Given the description of an element on the screen output the (x, y) to click on. 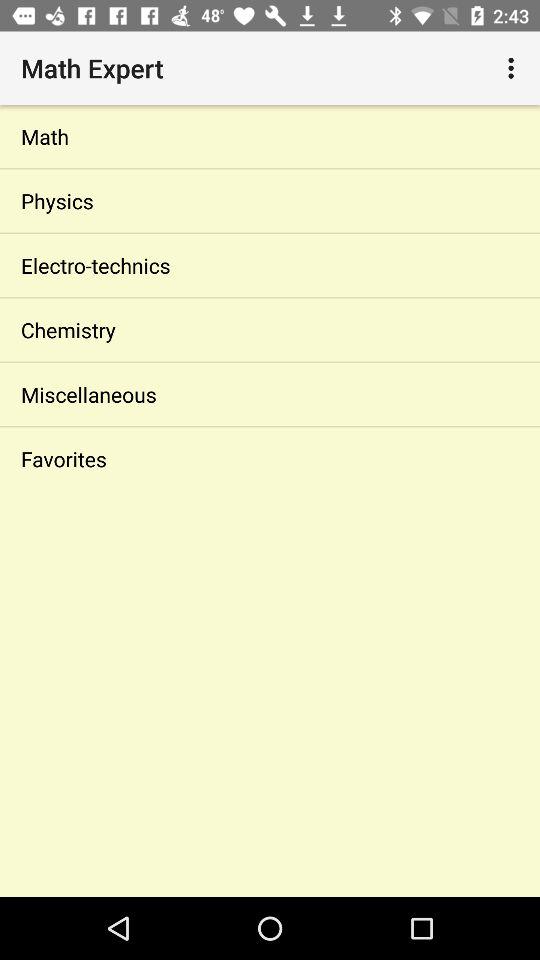
choose the icon at the top right corner (513, 67)
